Given the description of an element on the screen output the (x, y) to click on. 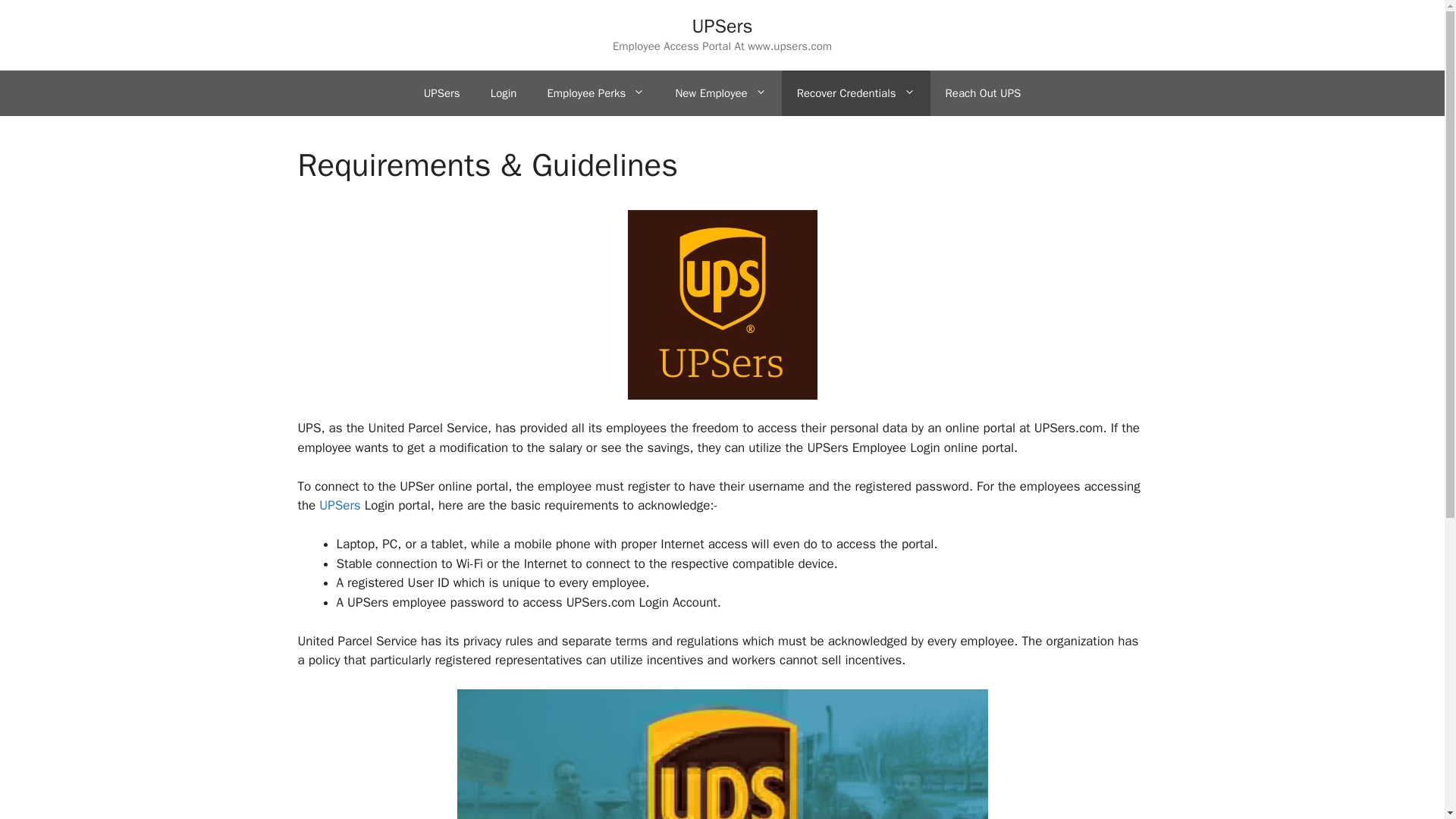
UPSers (722, 25)
UPSers (442, 92)
Recover Credentials (855, 92)
New Employee (719, 92)
Login (504, 92)
Reach Out UPS (983, 92)
Employee Perks (595, 92)
UPSers (338, 505)
